Given the description of an element on the screen output the (x, y) to click on. 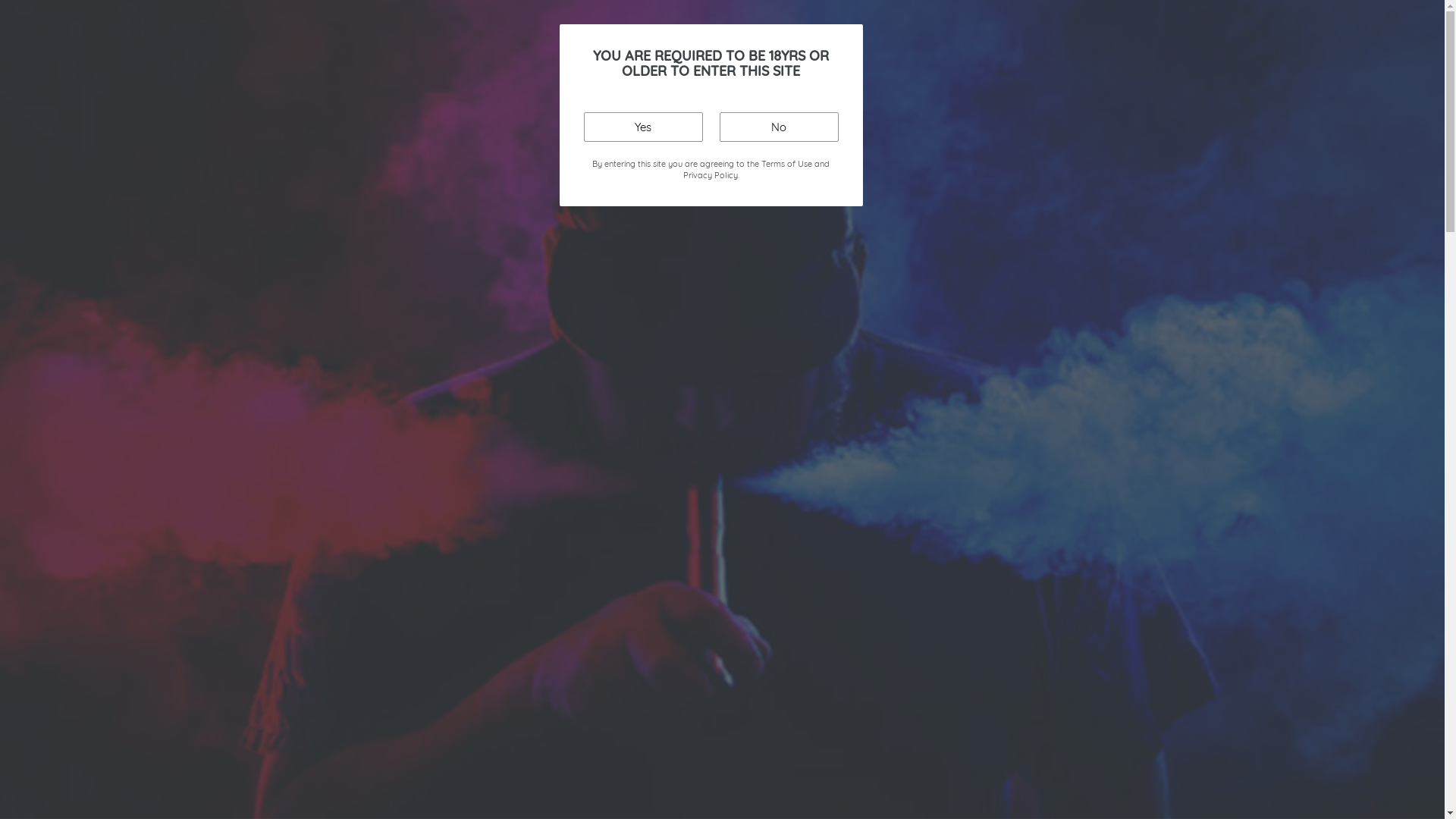
Ejuice Element type: text (396, 141)
Gift Card Element type: text (1196, 141)
Accessories Element type: text (631, 141)
Rosin Presses Element type: text (874, 141)
Decrease quantity Element type: text (807, 437)
Green Element type: text (1009, 467)
Specials Element type: text (245, 141)
Yes Element type: text (642, 126)
Zoom Element type: text (686, 528)
Silver - Metal Edition Element type: text (1070, 231)
Black Element type: text (1009, 404)
Green Element type: text (1070, 72)
Dry Herb & Concentrate Element type: text (750, 141)
Rainbow - Metal Edition Element type: text (1070, 200)
0 Element type: text (1290, 81)
Blue Element type: text (1070, 40)
Silver - Metal Edition Element type: text (1009, 627)
View store information Element type: text (860, 632)
Orange Element type: text (1070, 104)
ADD TO CART Element type: text (1015, 500)
Rainbow - Metal Edition Element type: text (1009, 595)
Hardware Element type: text (462, 141)
Yellow Element type: text (1009, 563)
Yellow Element type: text (1070, 168)
No Element type: text (777, 126)
Home Element type: text (158, 187)
Just Arrived! Element type: text (324, 141)
Red Element type: text (1070, 136)
Pods & Coils Element type: text (545, 141)
Orange Element type: text (1009, 499)
trust-badges-widget Element type: hover (1015, 724)
Red Element type: text (1009, 531)
BUY IT NOW Element type: text (1015, 547)
Blue Element type: text (1009, 435)
Increase quantity Element type: text (883, 437)
Water Percolators/Dab Rigs Element type: text (1008, 141)
Nicotine Element type: text (1127, 141)
Green Element type: text (1015, 362)
